Given the description of an element on the screen output the (x, y) to click on. 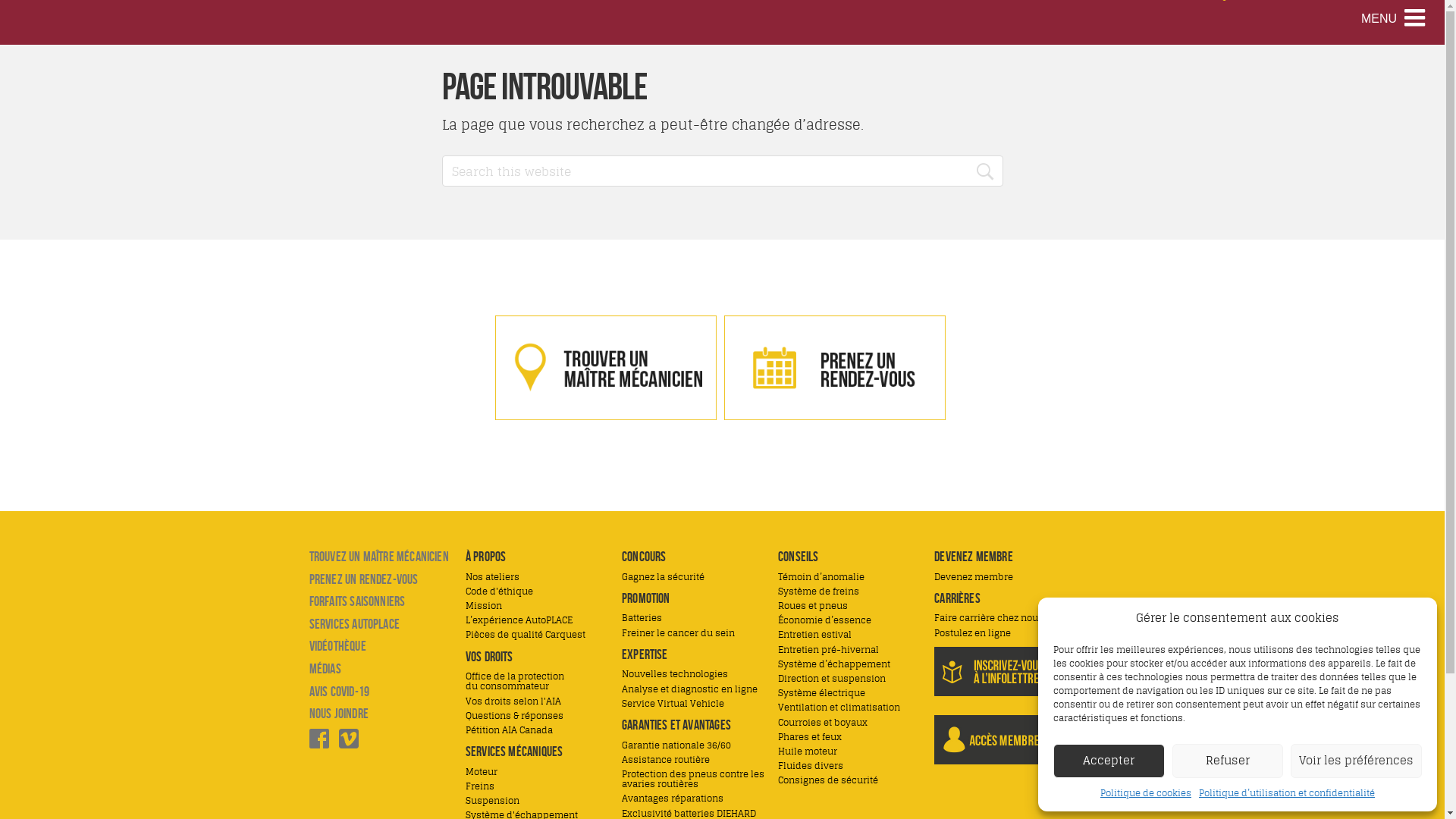
Devenez membre Element type: text (973, 576)
Mission Element type: text (483, 605)
Freins Element type: text (479, 785)
FORFAITS SAISONNIERS Element type: text (357, 600)
Moteur Element type: text (481, 771)
Office de la protection
du consommateur Element type: text (514, 680)
Ventilation et climatisation Element type: text (839, 706)
PRENEZ UN RENDEZ-VOUS Element type: text (363, 578)
SERVICES AUTOPLACE Element type: text (354, 623)
Freiner le cancer du sein Element type: text (677, 632)
Nos ateliers Element type: text (492, 576)
Roues et pneus Element type: text (812, 605)
Service Virtual Vehicle Element type: text (672, 703)
Vos droits selon l'AIA Element type: text (513, 700)
AVIS COVID-19 Element type: text (339, 691)
Suspension Element type: text (492, 800)
Direction et suspension Element type: text (831, 678)
Accepter Element type: text (1108, 760)
Postulez en ligne Element type: text (972, 632)
Courroies et boyaux Element type: text (822, 722)
Skip to primary navigation Element type: text (0, 0)
Nouvelles technologies Element type: text (674, 673)
Entretien estival Element type: text (814, 634)
Phares et feux Element type: text (809, 736)
Batteries Element type: text (641, 617)
Fluides divers Element type: text (810, 765)
Politique de cookies Element type: text (1145, 792)
Garantie nationale 36/60 Element type: text (676, 744)
NOUS JOINDRE Element type: text (338, 713)
Refuser Element type: text (1227, 760)
Huile moteur Element type: text (807, 750)
Search Element type: text (987, 170)
Analyse et diagnostic en ligne Element type: text (689, 688)
